Given the description of an element on the screen output the (x, y) to click on. 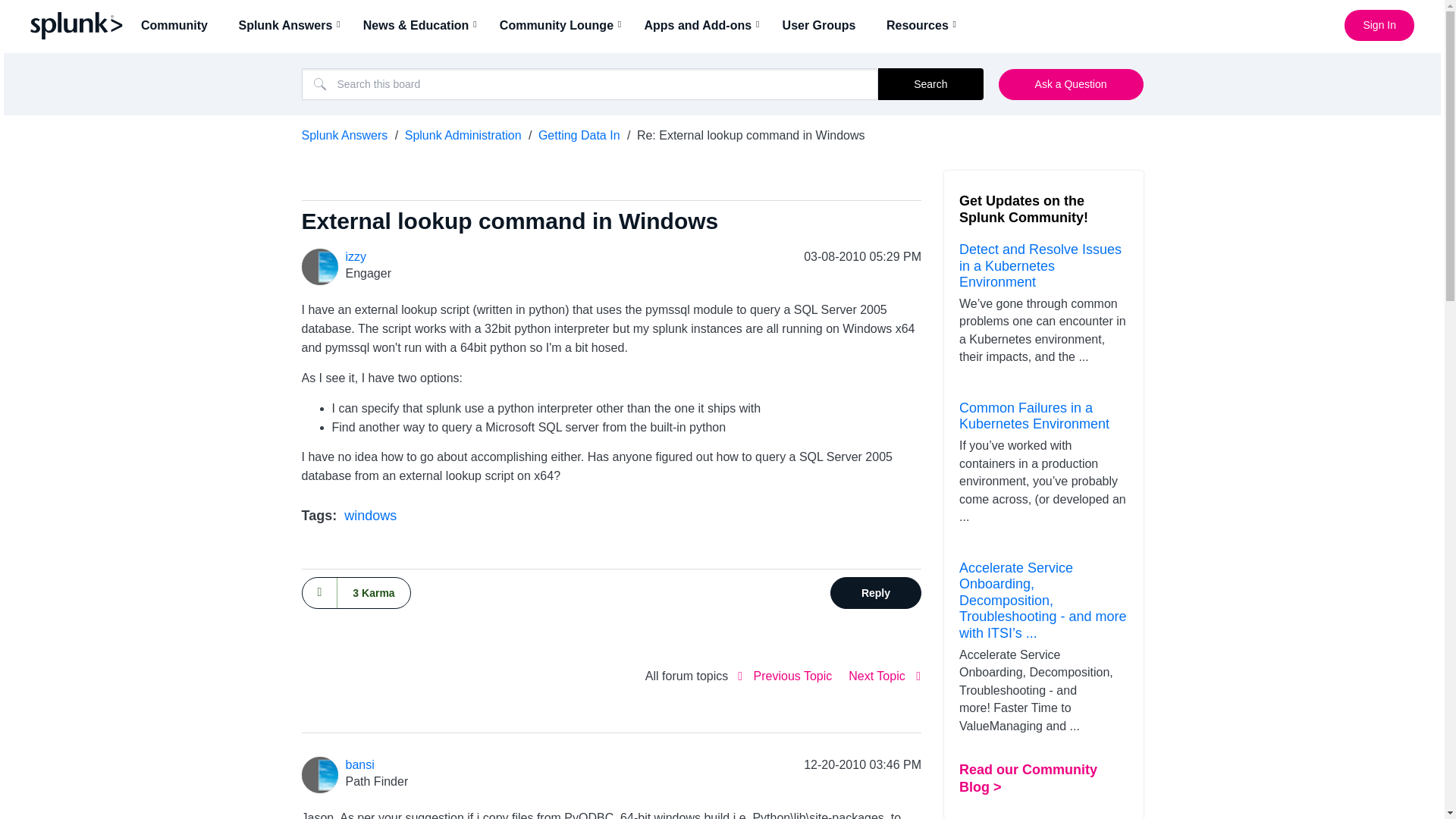
Splunk Answers (289, 25)
Search (590, 83)
Community (178, 25)
Search (929, 83)
Search (929, 83)
